Given the description of an element on the screen output the (x, y) to click on. 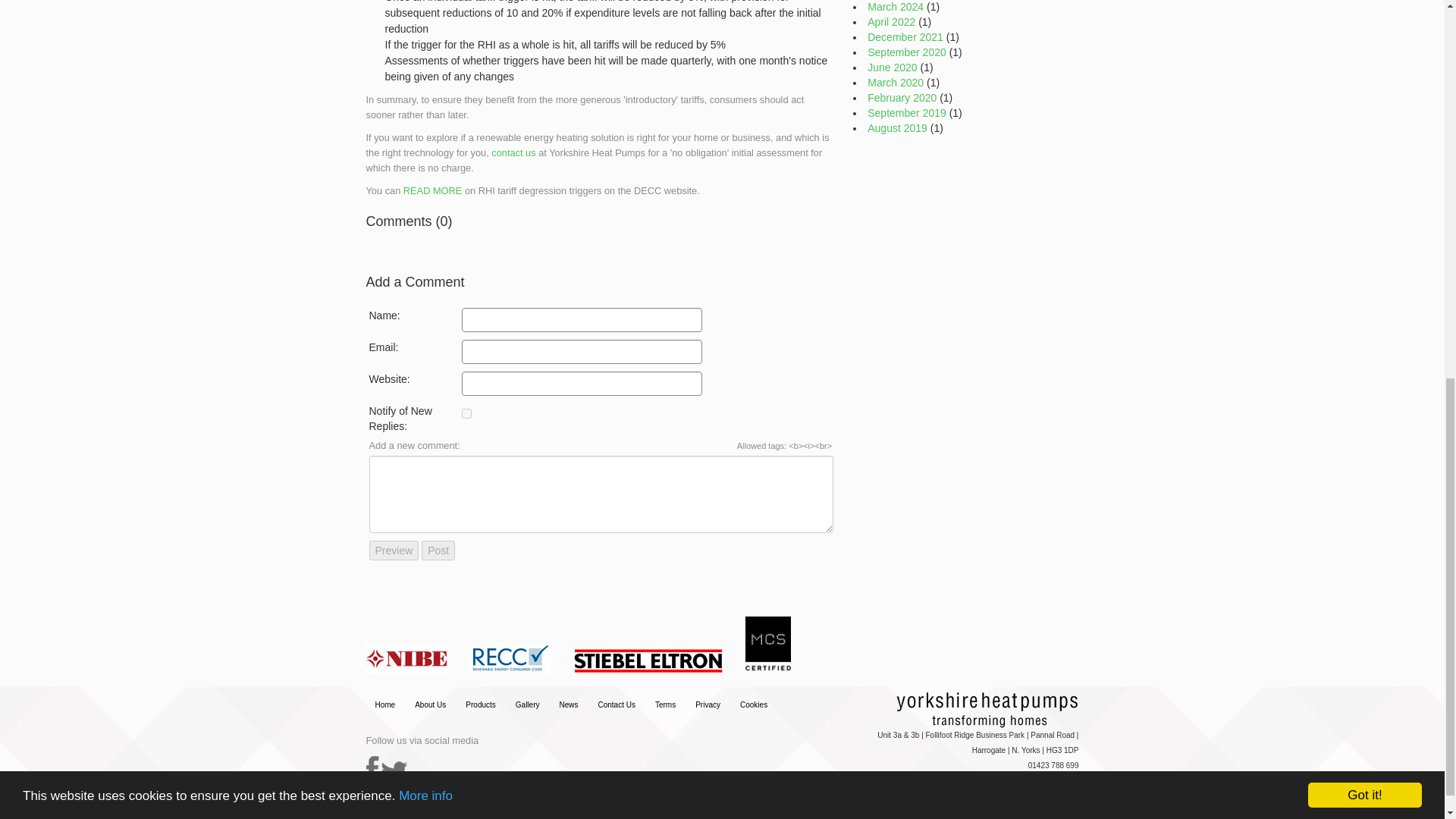
contact us (513, 152)
READ MORE (433, 190)
1 (466, 413)
Post (438, 550)
Preview (393, 550)
